Given the description of an element on the screen output the (x, y) to click on. 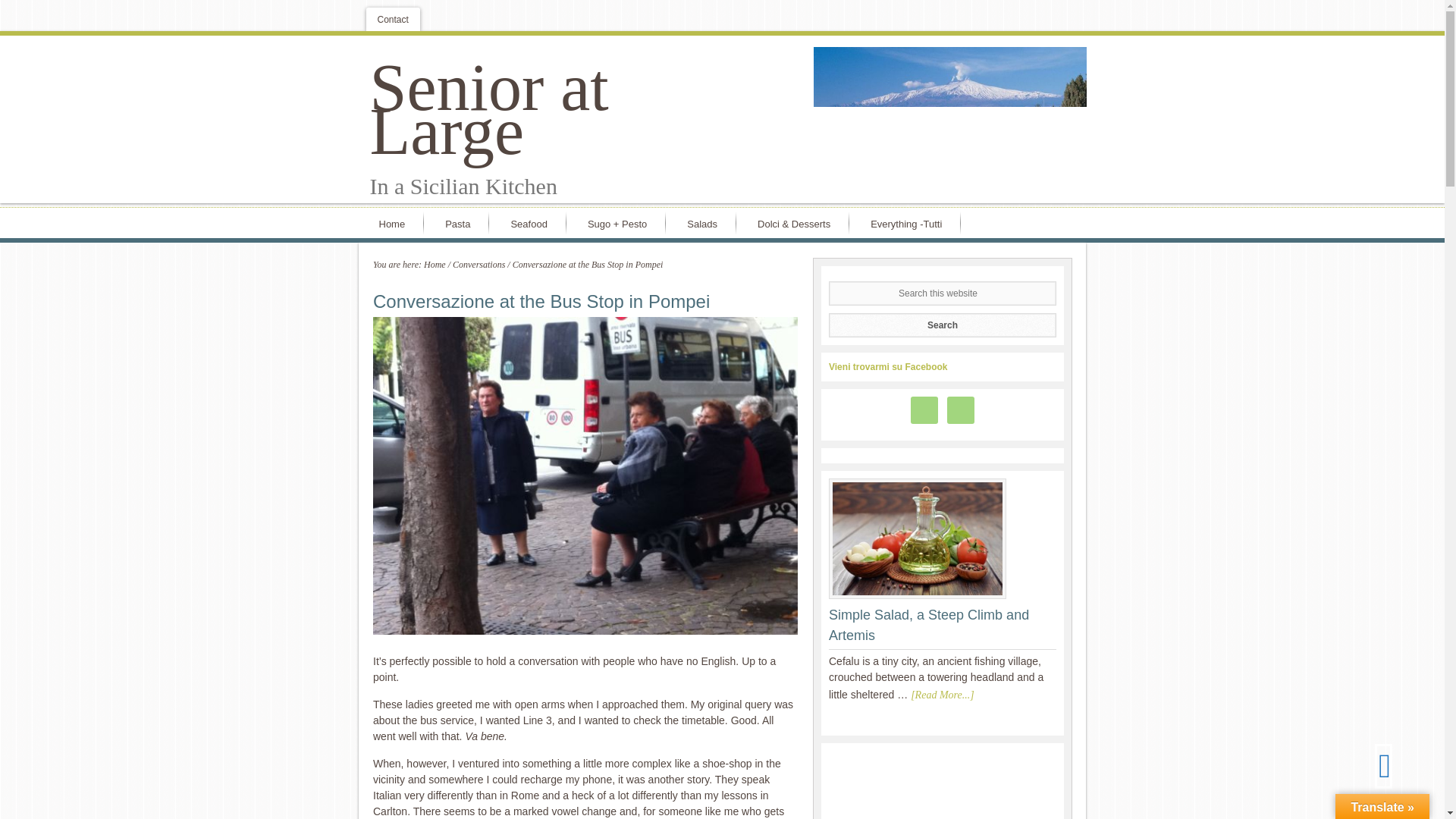
Pasta (460, 223)
Search (942, 324)
Search (942, 324)
Home (434, 264)
Search (942, 324)
Simple Salad, a Steep Climb and Artemis (928, 624)
Contact (392, 19)
Home (395, 223)
Seafood (531, 223)
Everything -Tutti (908, 223)
